Given the description of an element on the screen output the (x, y) to click on. 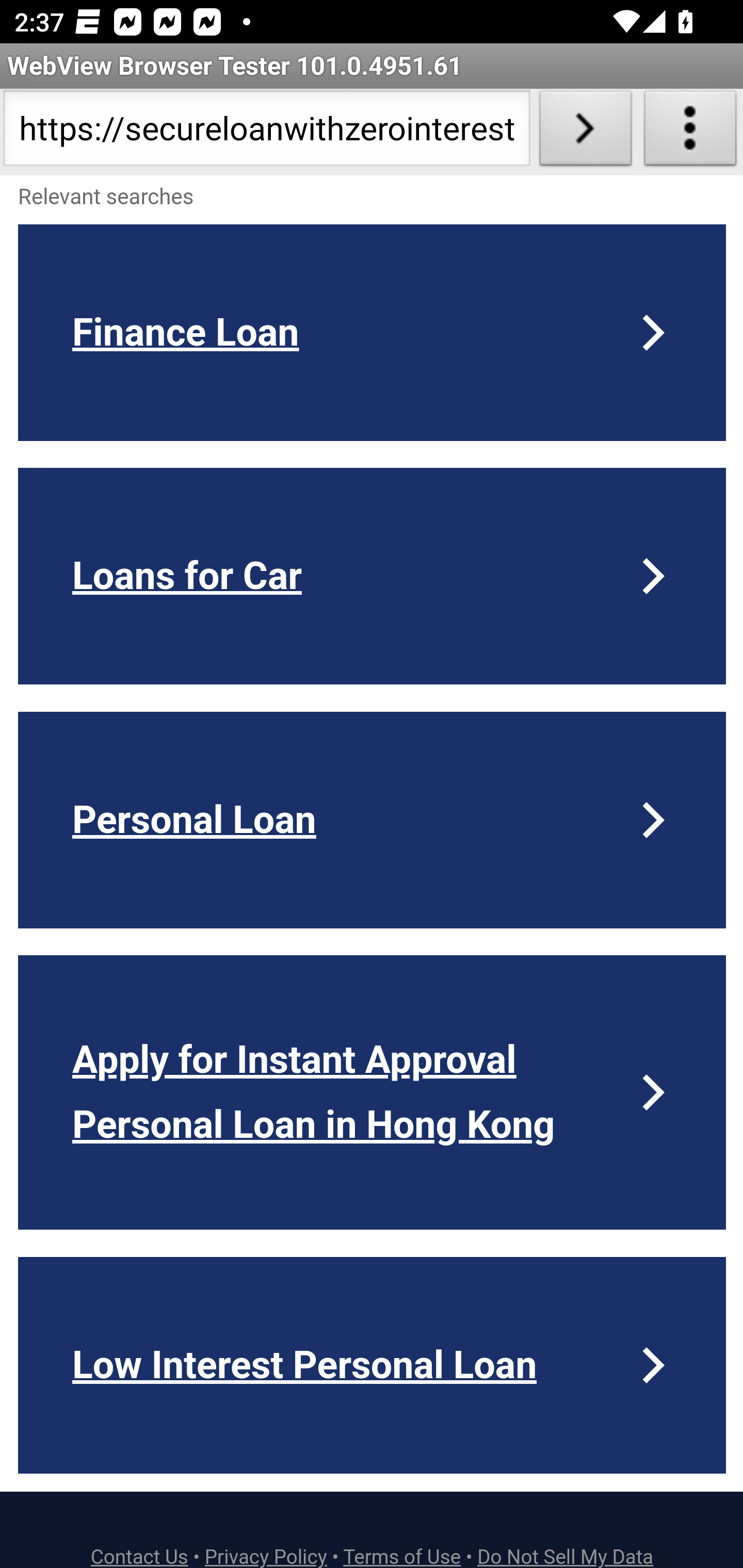
Load URL (585, 132)
About WebView (690, 132)
Finance Loan (372, 332)
Loans for Car (372, 576)
Personal Loan (372, 819)
Low Interest Personal Loan (372, 1364)
Contact Us (139, 1556)
Privacy Policy (265, 1556)
Terms of Use (402, 1556)
Do Not Sell My Data (566, 1556)
